Given the description of an element on the screen output the (x, y) to click on. 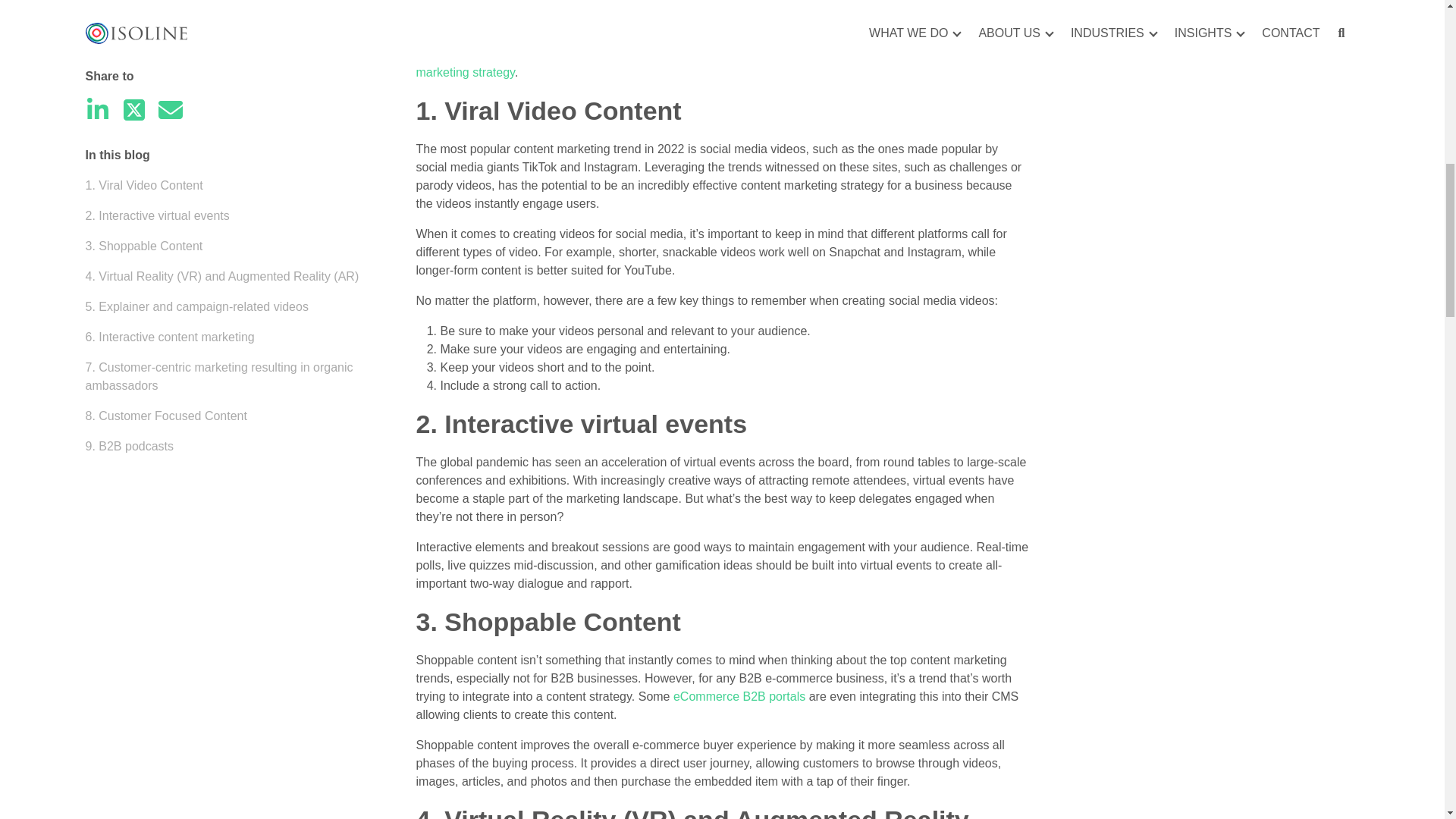
8. Customer Focused Content (165, 308)
5. Explainer and campaign-related videos (195, 198)
3. Shoppable Content (143, 137)
9. B2B podcasts (128, 338)
1. Viral Video Content (143, 77)
B2B content marketing strategy (708, 61)
6. Interactive content marketing (168, 228)
2. Interactive virtual events (156, 107)
eCommerce B2B portals (738, 696)
